Given the description of an element on the screen output the (x, y) to click on. 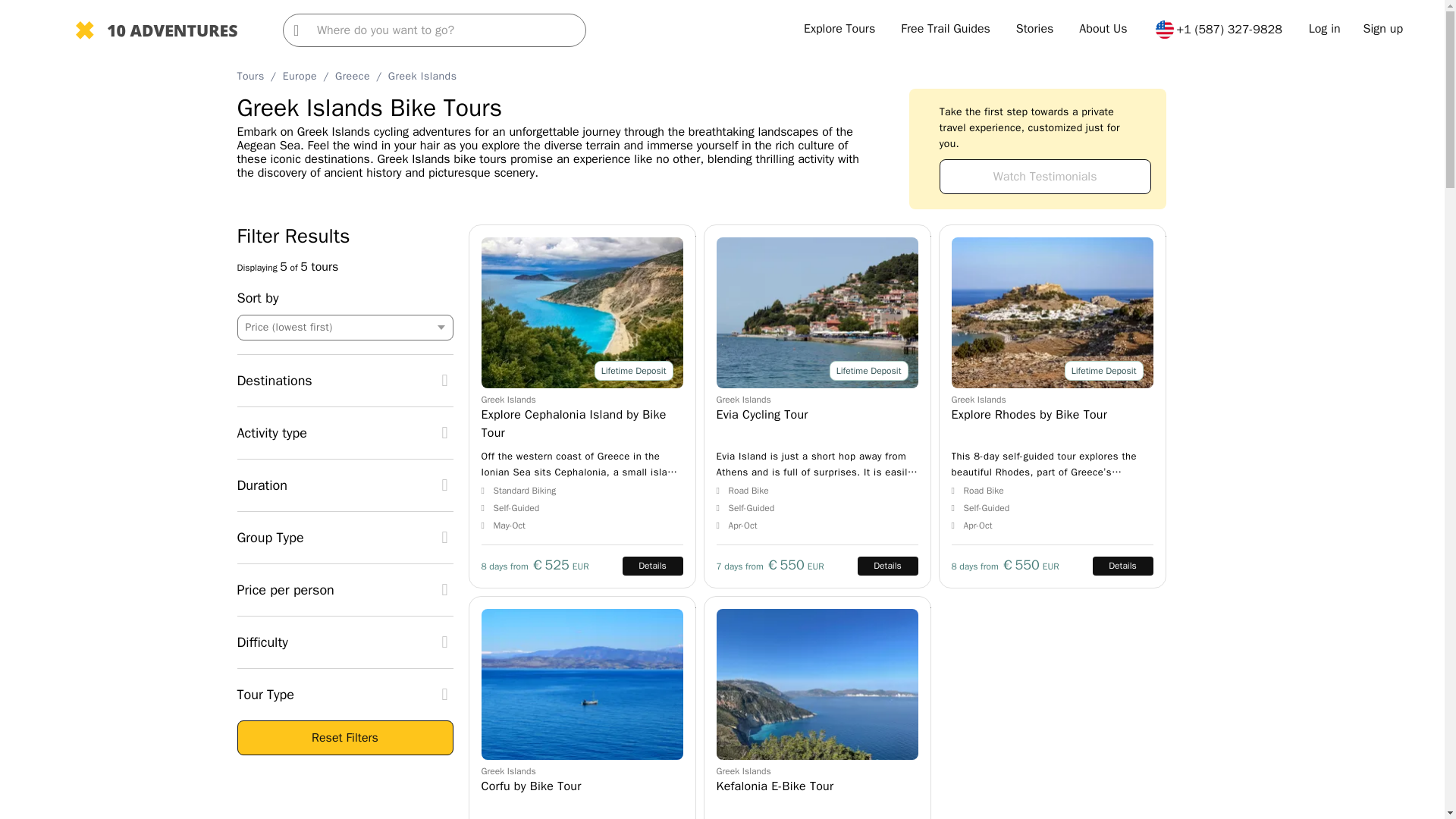
Watch Testimonials (1045, 176)
Open details for Corfu by Bike Tour (581, 707)
Greece (351, 75)
Stories (1034, 28)
Europe (299, 75)
Open details for Kefalonia E-Bike Tour (817, 707)
Log in (1324, 28)
Sign up (1382, 28)
Reset Filters (343, 737)
10Adventures.com (156, 31)
